Given the description of an element on the screen output the (x, y) to click on. 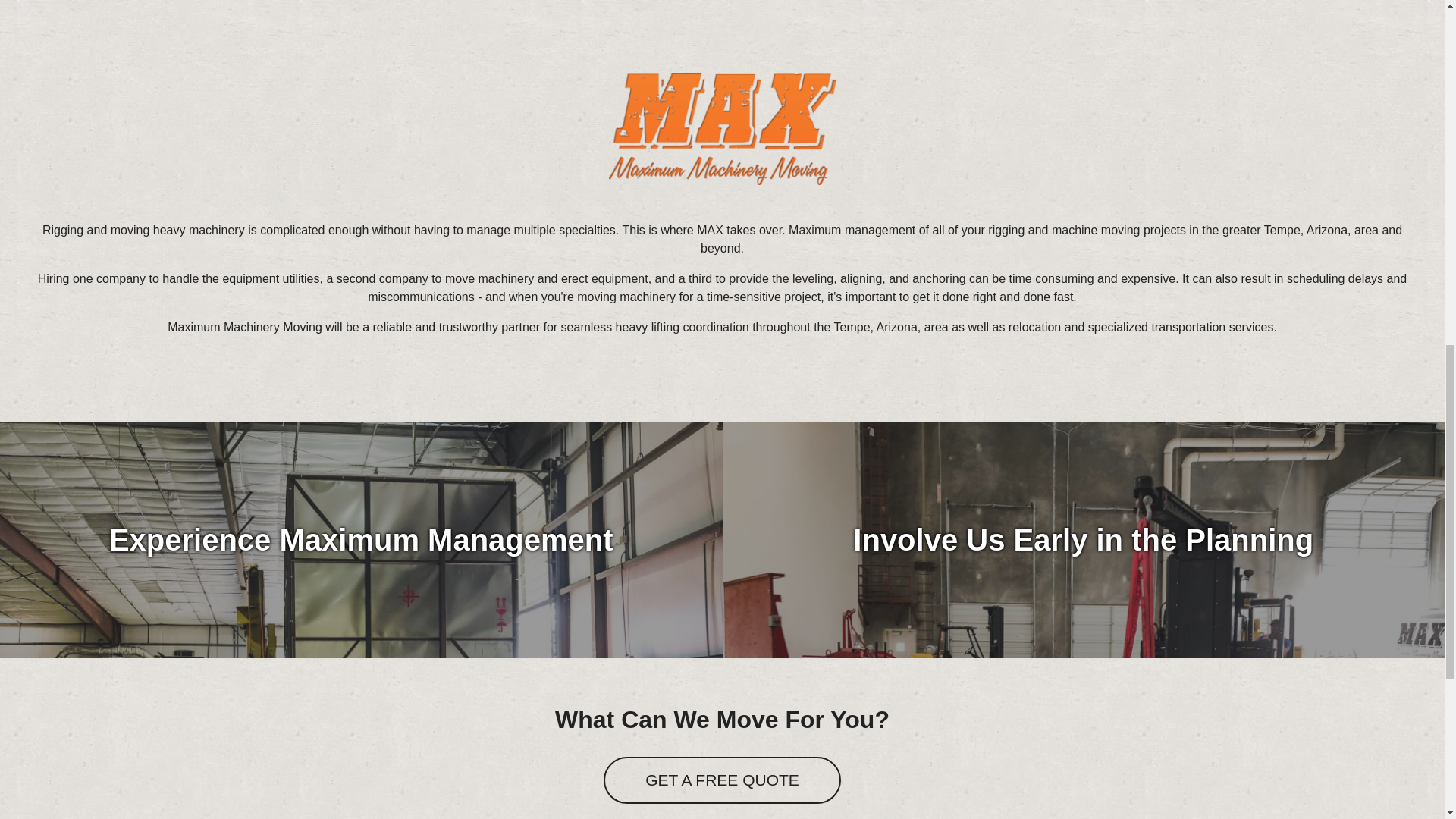
GET A FREE QUOTE (721, 779)
Contact Max Machinery Moving (721, 779)
Max Machinery Moving Orange Logo (721, 128)
